Given the description of an element on the screen output the (x, y) to click on. 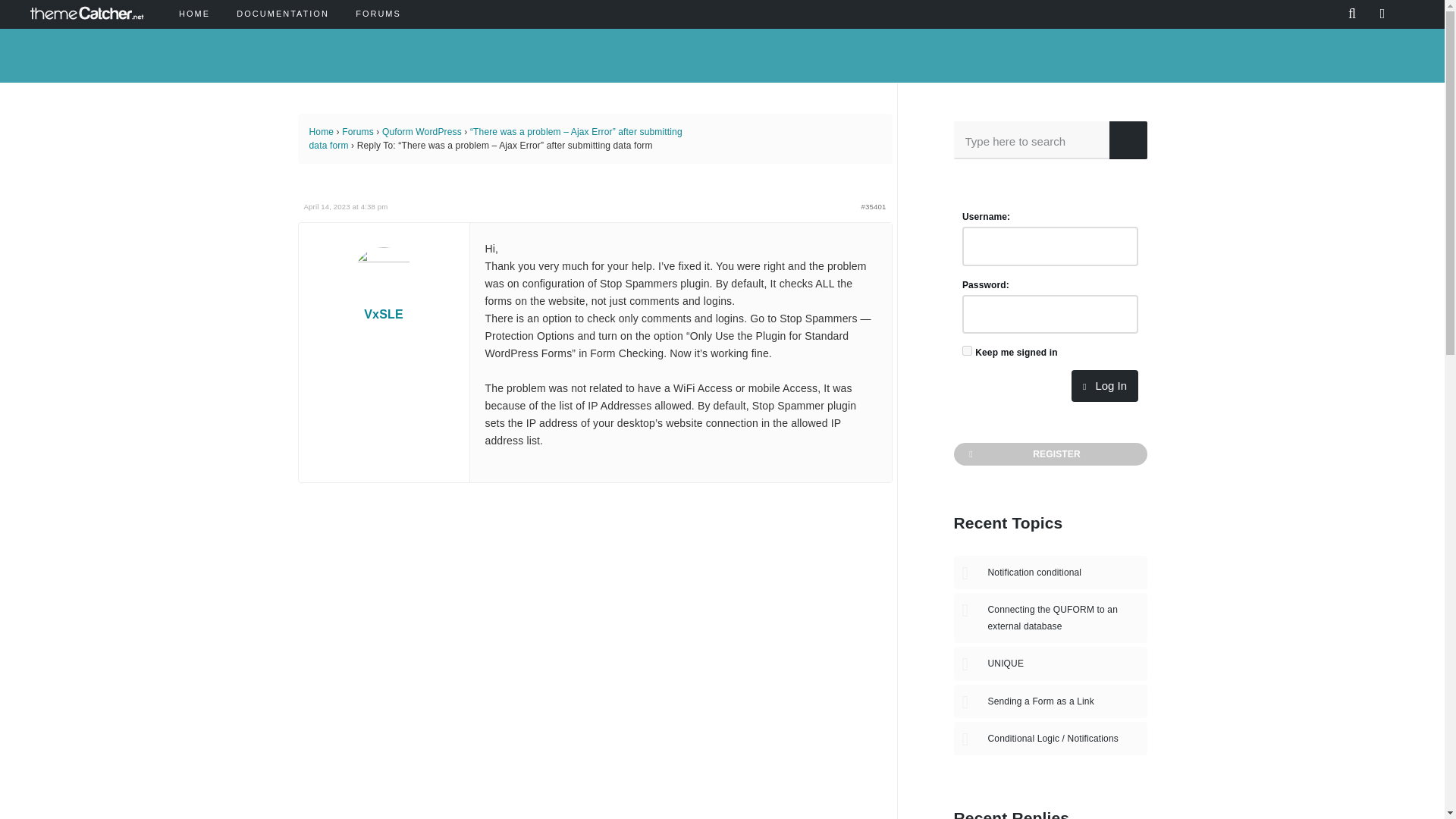
Forums (358, 131)
FORUMS (377, 13)
Search (1127, 139)
View VxSLE's profile (384, 284)
DOCUMENTATION (281, 13)
Search (1127, 139)
VxSLE (384, 284)
Search (1127, 139)
forever (967, 350)
HOME (193, 13)
Quform WordPress (421, 131)
Home (321, 131)
